Given the description of an element on the screen output the (x, y) to click on. 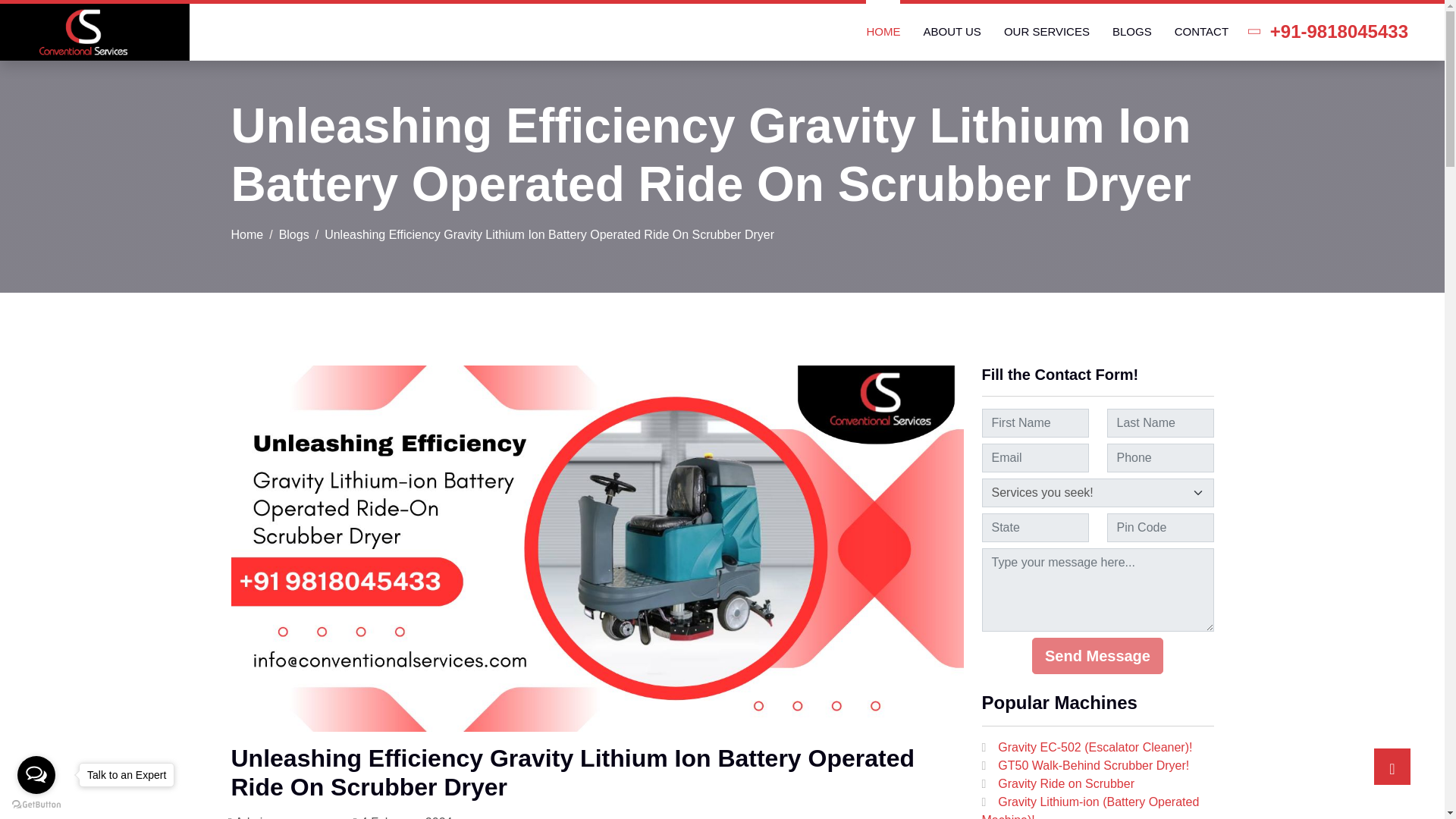
Blogs (293, 234)
BLOGS (1131, 31)
Gravity Ride on Scrubber (1065, 783)
ABOUT US (951, 31)
GT50 Walk-Behind Scrubber Dryer! (1093, 765)
CONTACT (1201, 31)
Home (246, 234)
Send Message (1097, 656)
HOME (882, 31)
OUR SERVICES (1046, 31)
Send Message (1097, 656)
